Given the description of an element on the screen output the (x, y) to click on. 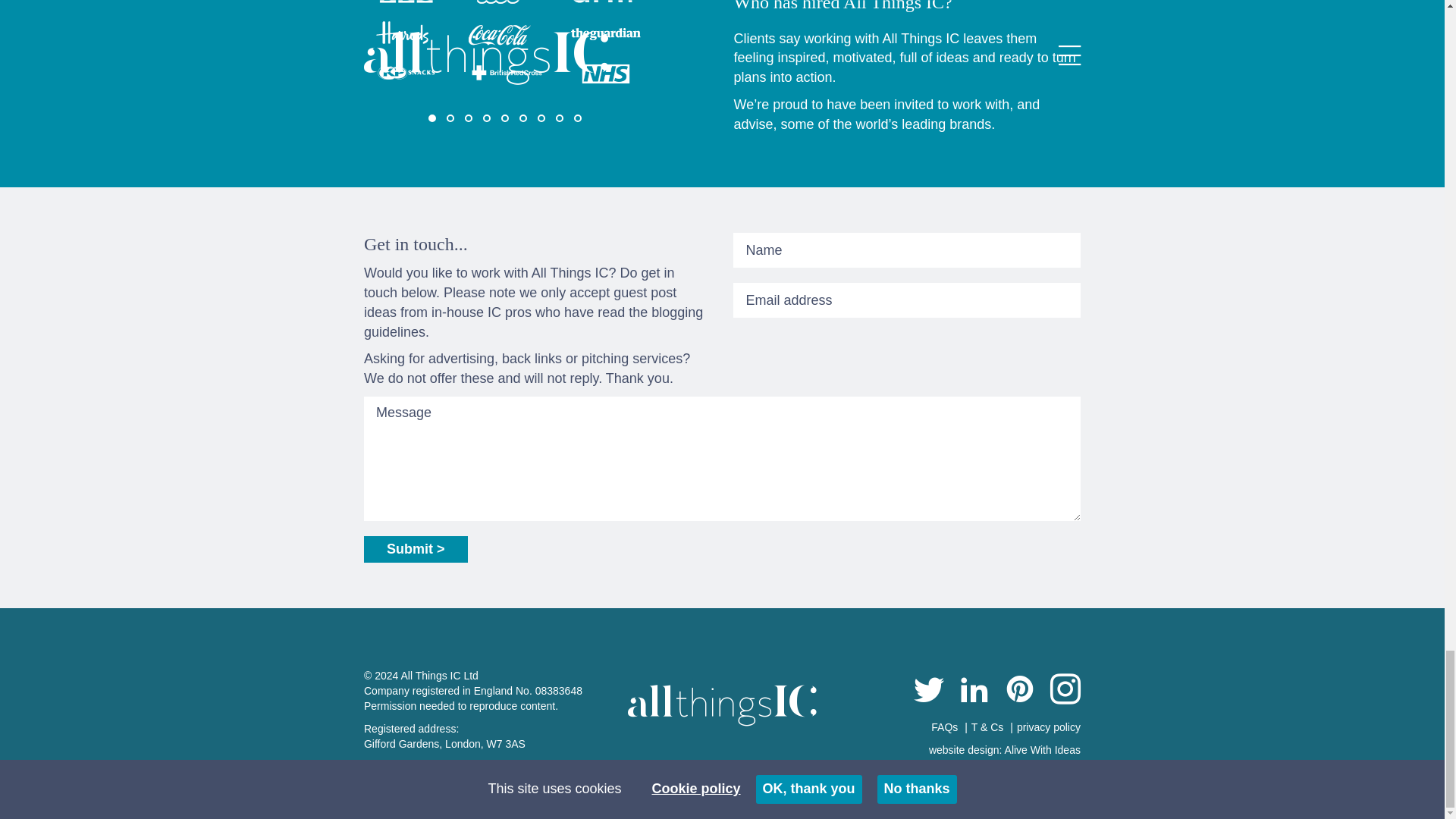
All Things IC on Pinterest (1019, 691)
All Things IC on Twitter (928, 691)
All Things IC on Instagram (1064, 691)
All Things IC on Linkedin (974, 691)
